Given the description of an element on the screen output the (x, y) to click on. 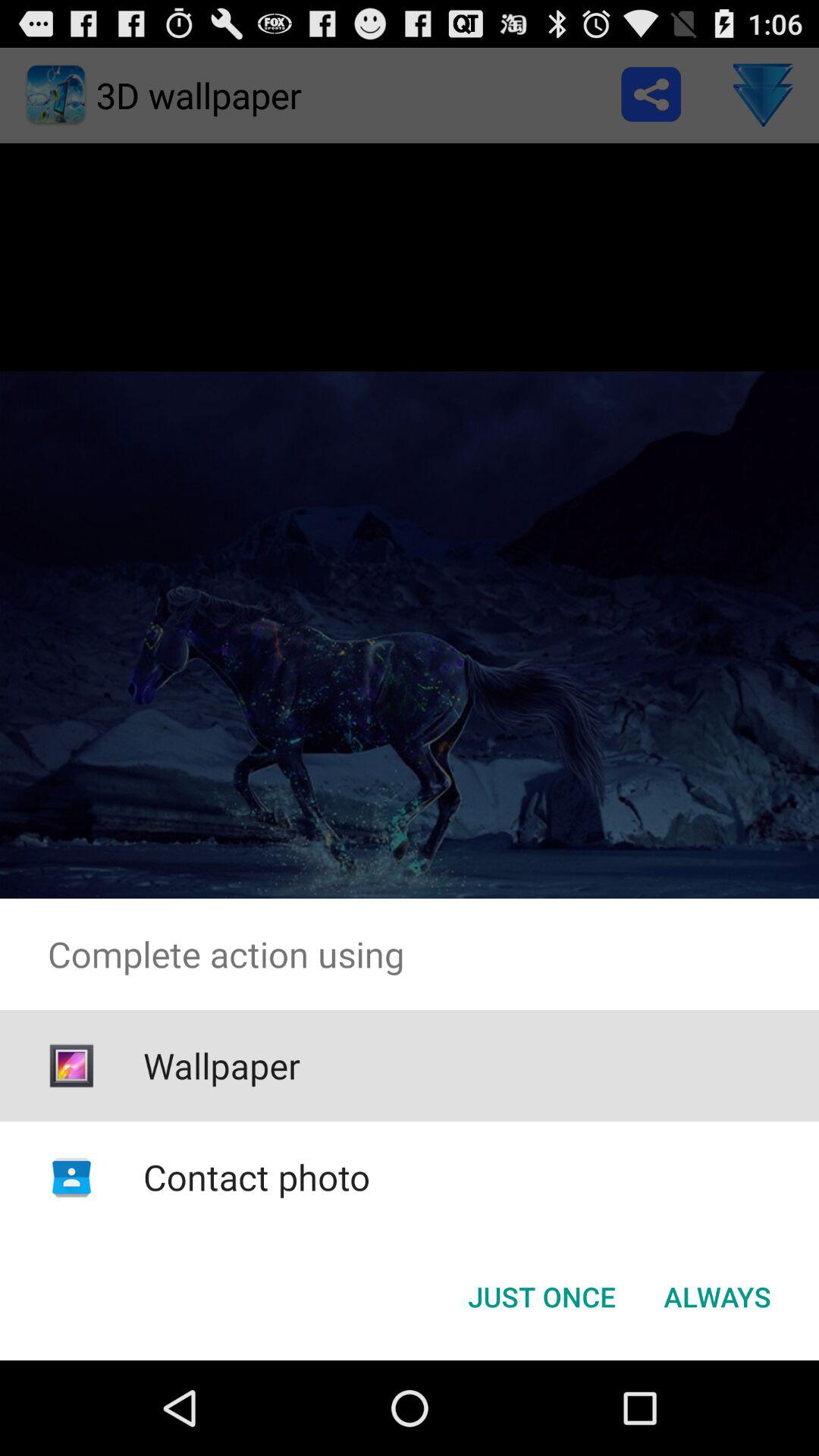
turn off contact photo app (256, 1176)
